Given the description of an element on the screen output the (x, y) to click on. 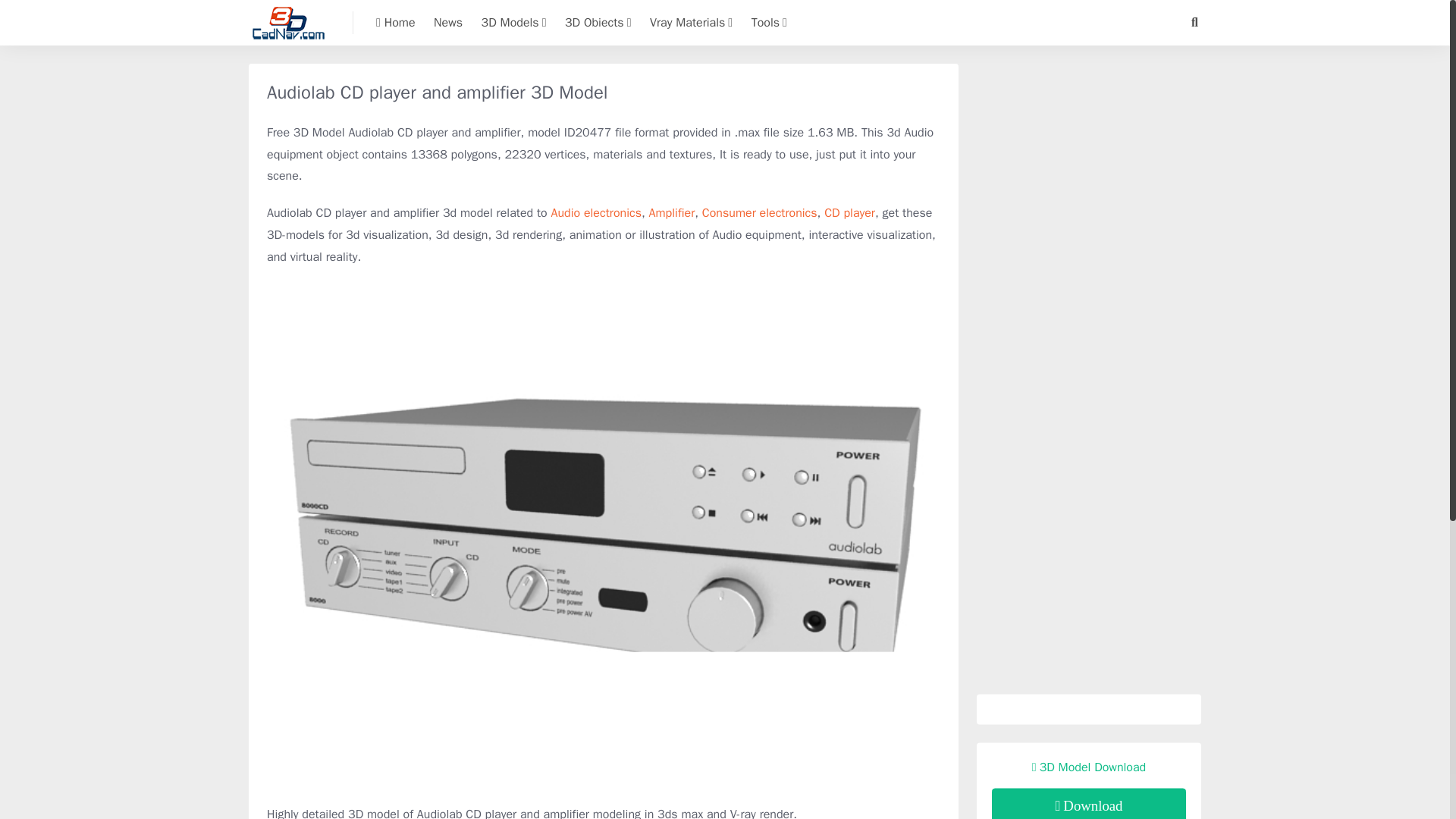
Amplifier 3d model (672, 212)
Consumer electronics 3d model (758, 212)
3D Models (514, 22)
3D Obiects (597, 22)
download Audiolab CD player and amplifier 3d model (1088, 803)
CD player 3d model (849, 212)
Audio electronics 3d model (595, 212)
